Given the description of an element on the screen output the (x, y) to click on. 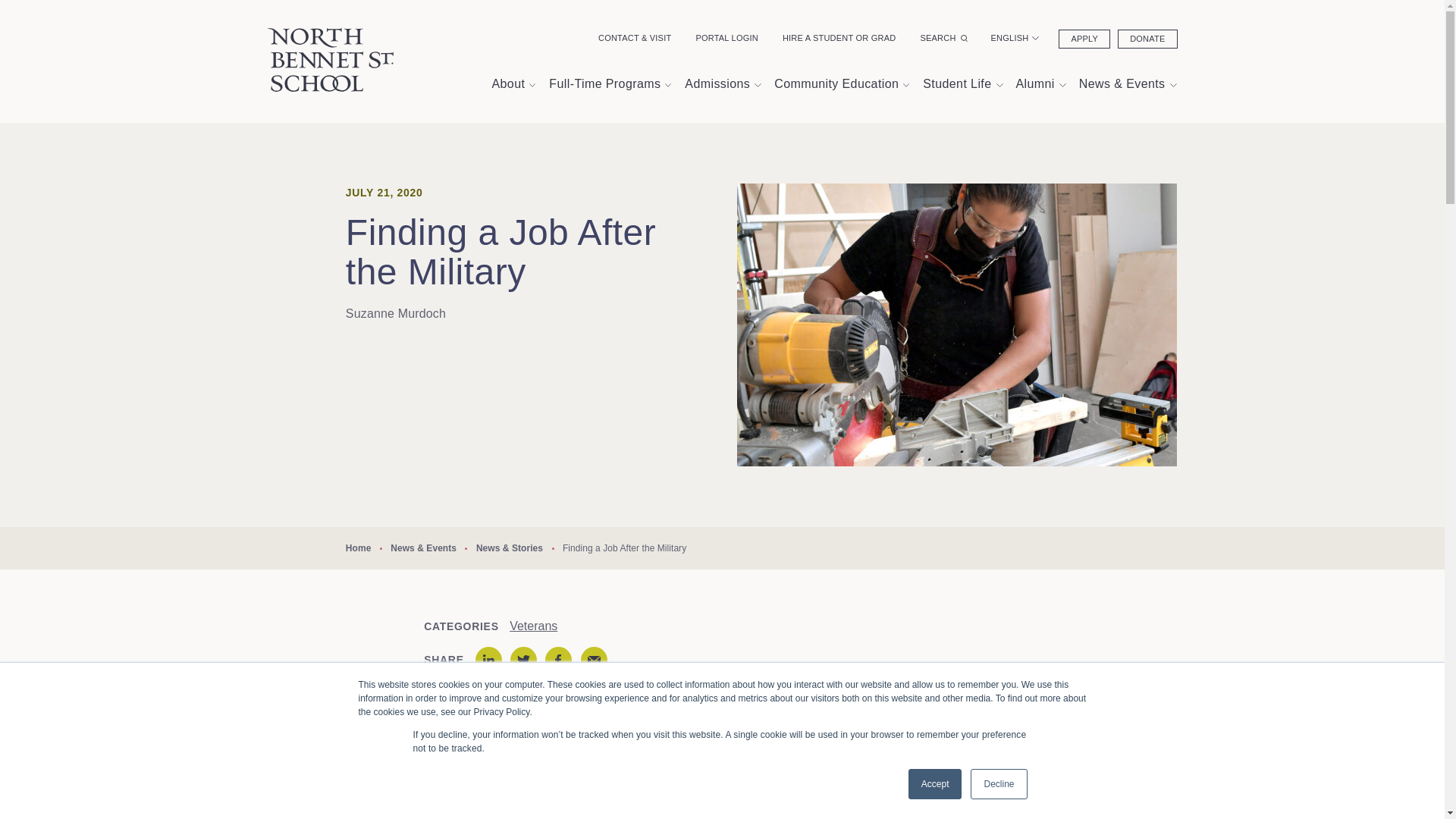
SKIP TO CONTENT (10, 130)
Full-Time Programs (609, 84)
HIRE A STUDENT OR GRAD (839, 38)
SEARCH (942, 38)
Facebook (558, 660)
LinkedIn (489, 660)
ENGLISH (1014, 37)
Decline (998, 784)
DONATE (1147, 38)
Accept (935, 784)
Twitter (524, 660)
PORTAL LOGIN (726, 38)
APPLY (1083, 38)
About (512, 84)
North Bennet Street School (329, 59)
